Given the description of an element on the screen output the (x, y) to click on. 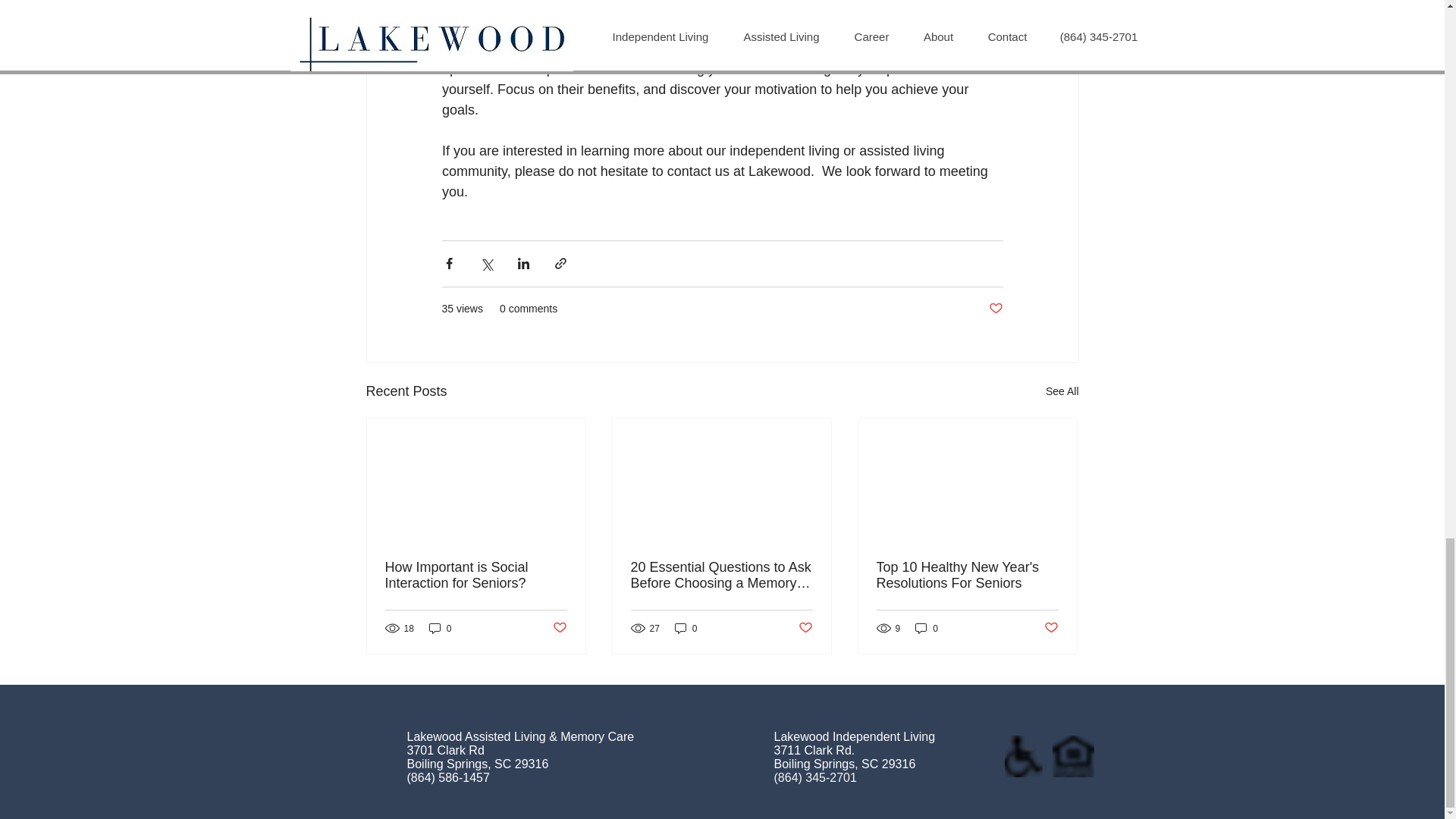
See All (1061, 391)
How Important is Social Interaction for Seniors? (476, 575)
0 (440, 627)
Post not marked as liked (995, 308)
Post not marked as liked (558, 627)
0 (685, 627)
